Given the description of an element on the screen output the (x, y) to click on. 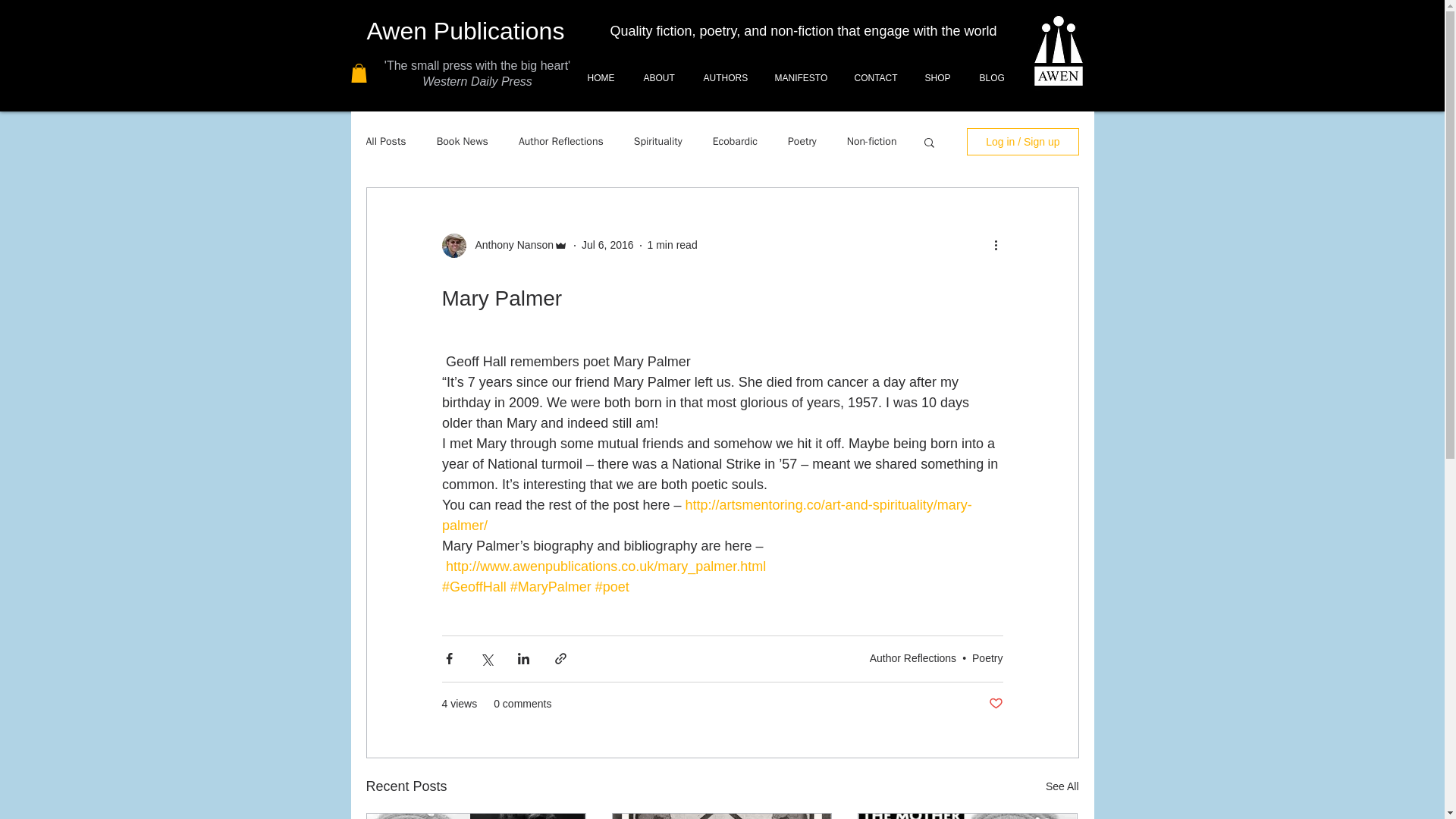
Anthony Nanson (509, 245)
Non-fiction (871, 141)
AUTHORS (722, 78)
Ecobardic (735, 141)
Author Reflections (561, 141)
SHOP (935, 78)
ABOUT (657, 78)
All Posts (385, 141)
Poetry (801, 141)
Author Reflections (912, 657)
BLOG (989, 78)
1 min read (672, 244)
CONTACT (873, 78)
Book News (461, 141)
Poetry (987, 657)
